Given the description of an element on the screen output the (x, y) to click on. 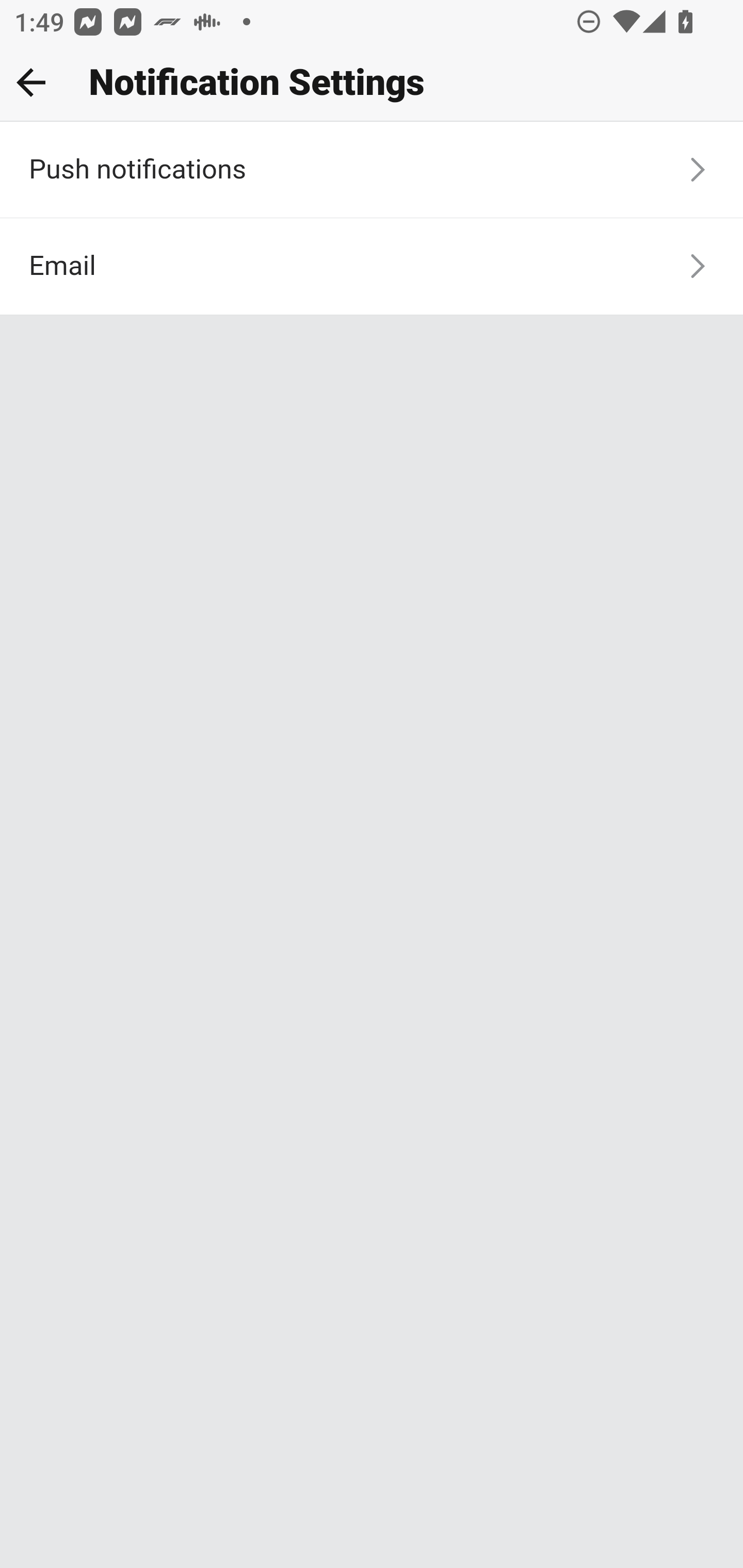
Back (30, 82)
Push notifications (371, 170)
Email (371, 266)
